Given the description of an element on the screen output the (x, y) to click on. 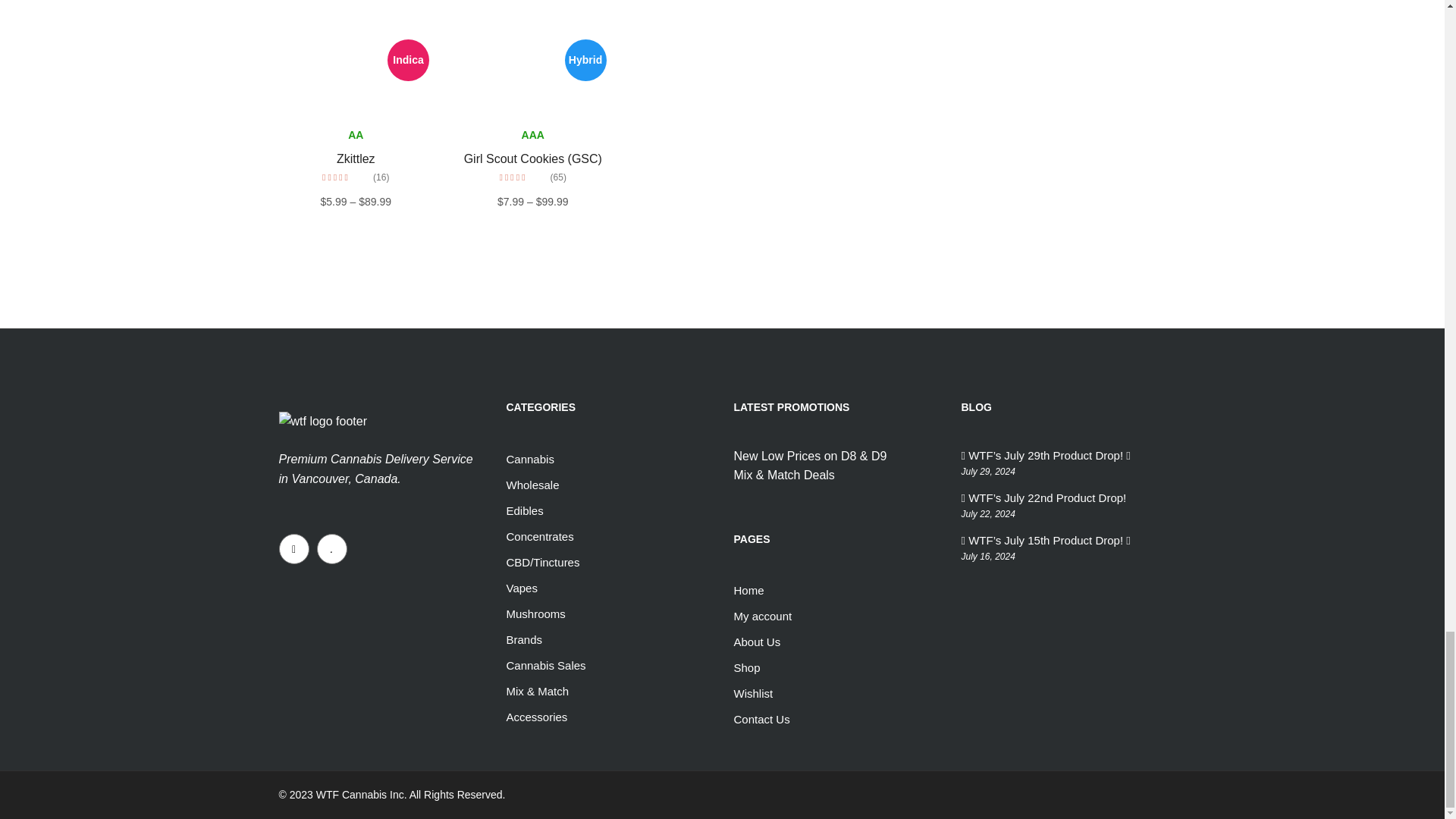
wtf logo footer (323, 421)
Instagram (293, 548)
Discord (332, 548)
